Given the description of an element on the screen output the (x, y) to click on. 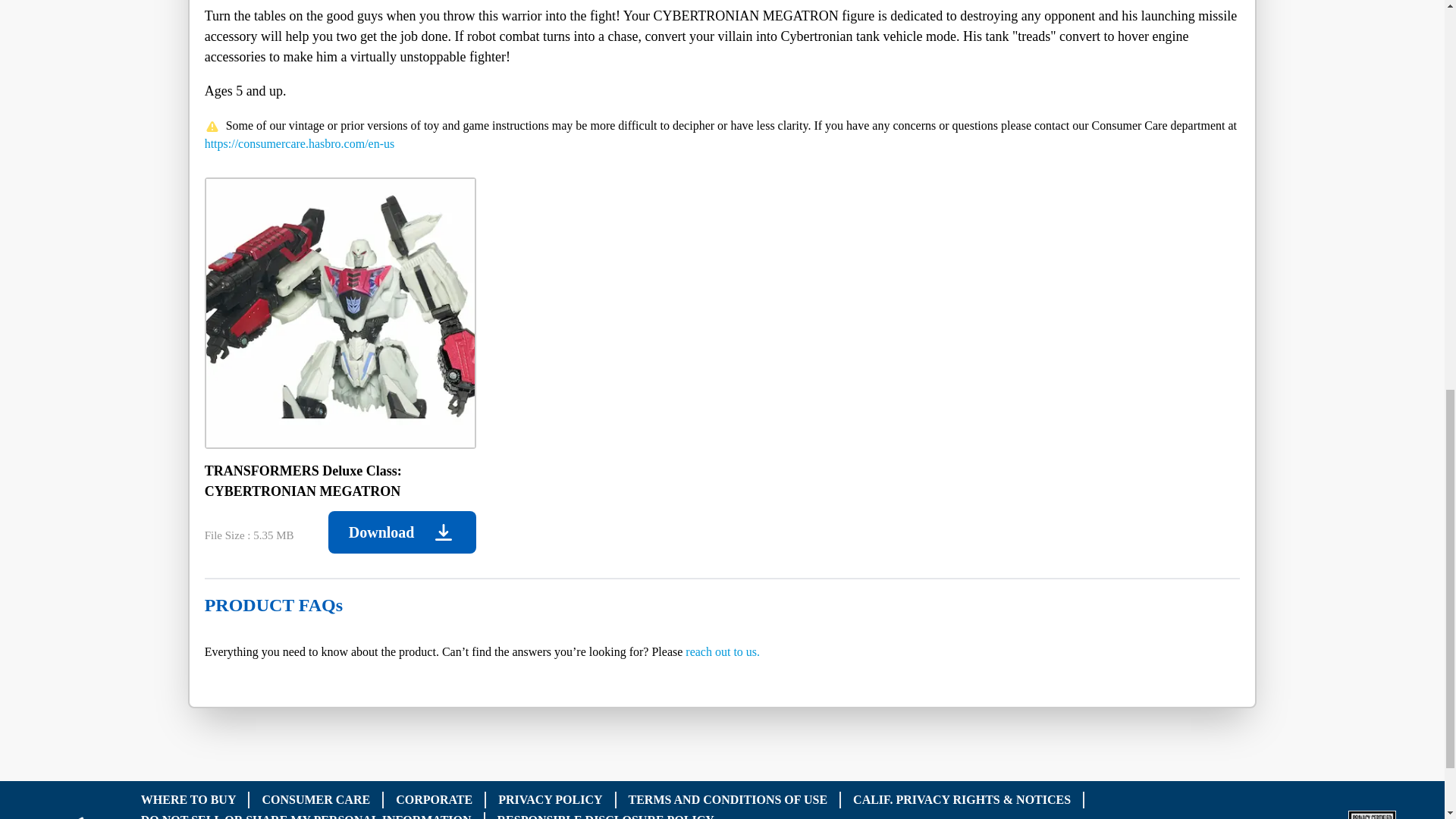
CORPORATE (433, 799)
RESPONSIBLE DISCLOSURE POLICY (605, 816)
Download (402, 532)
PRIVACY POLICY (549, 799)
reach out to us. (722, 651)
CONSUMER CARE (315, 799)
DO NOT SELL OR SHARE MY PERSONAL INFORMATION (306, 816)
TERMS AND CONDITIONS OF USE (728, 799)
WHERE TO BUY (188, 799)
